Given the description of an element on the screen output the (x, y) to click on. 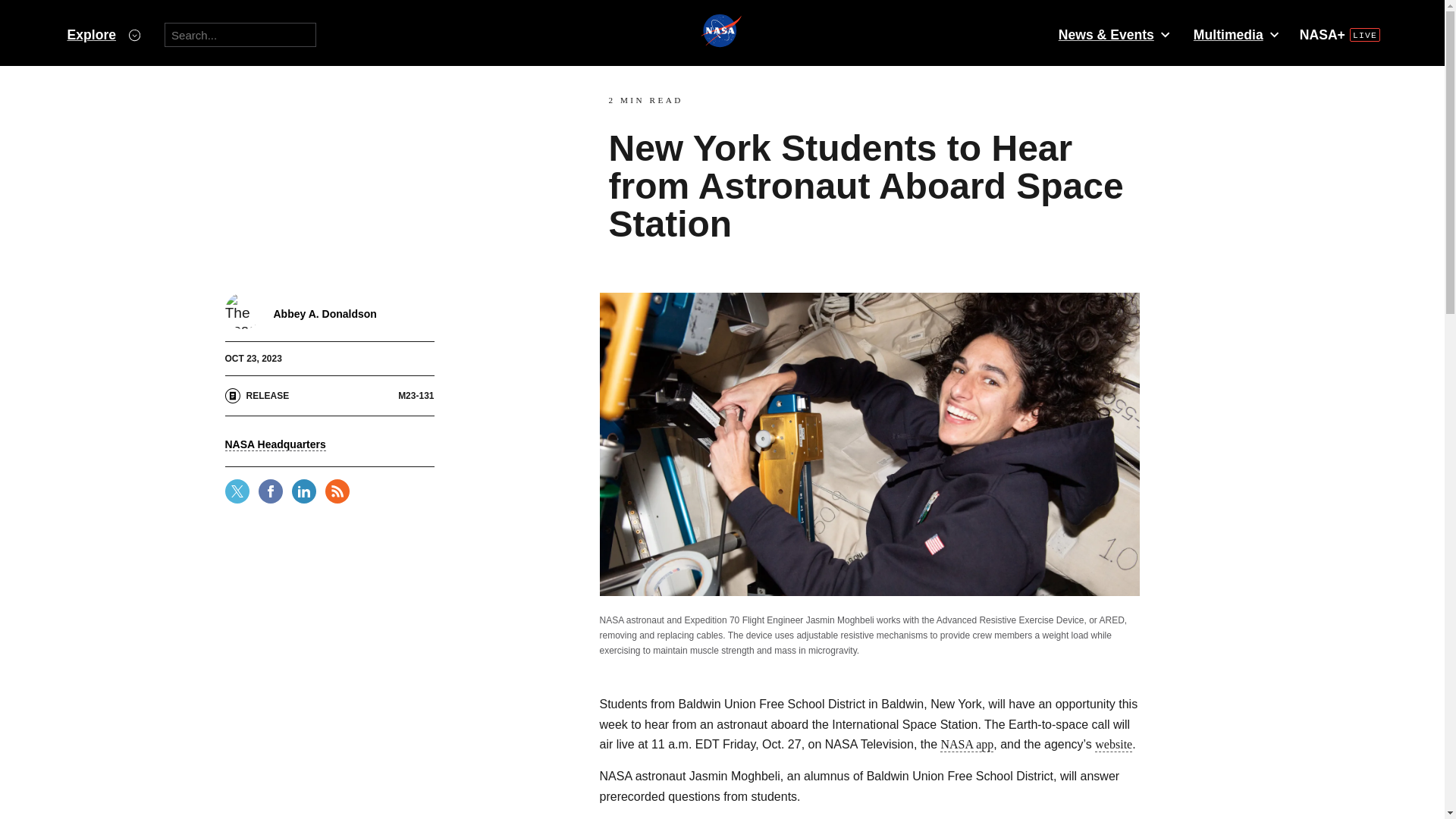
website (1113, 744)
Explore (103, 35)
Multimedia (1235, 35)
NASA app (966, 744)
NASA Headquarters (274, 444)
